Given the description of an element on the screen output the (x, y) to click on. 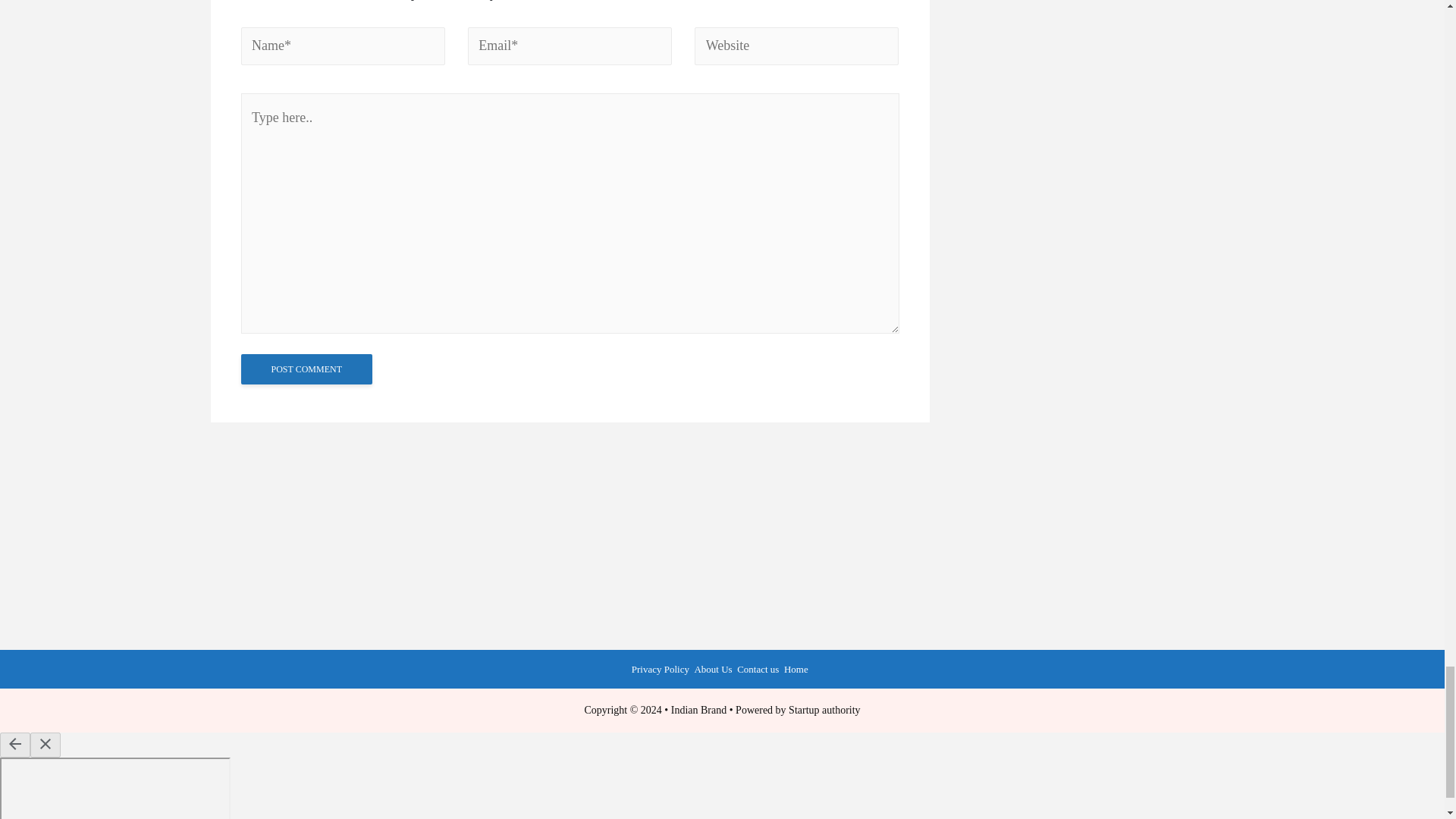
Post Comment (306, 368)
Post Comment (306, 368)
